Given the description of an element on the screen output the (x, y) to click on. 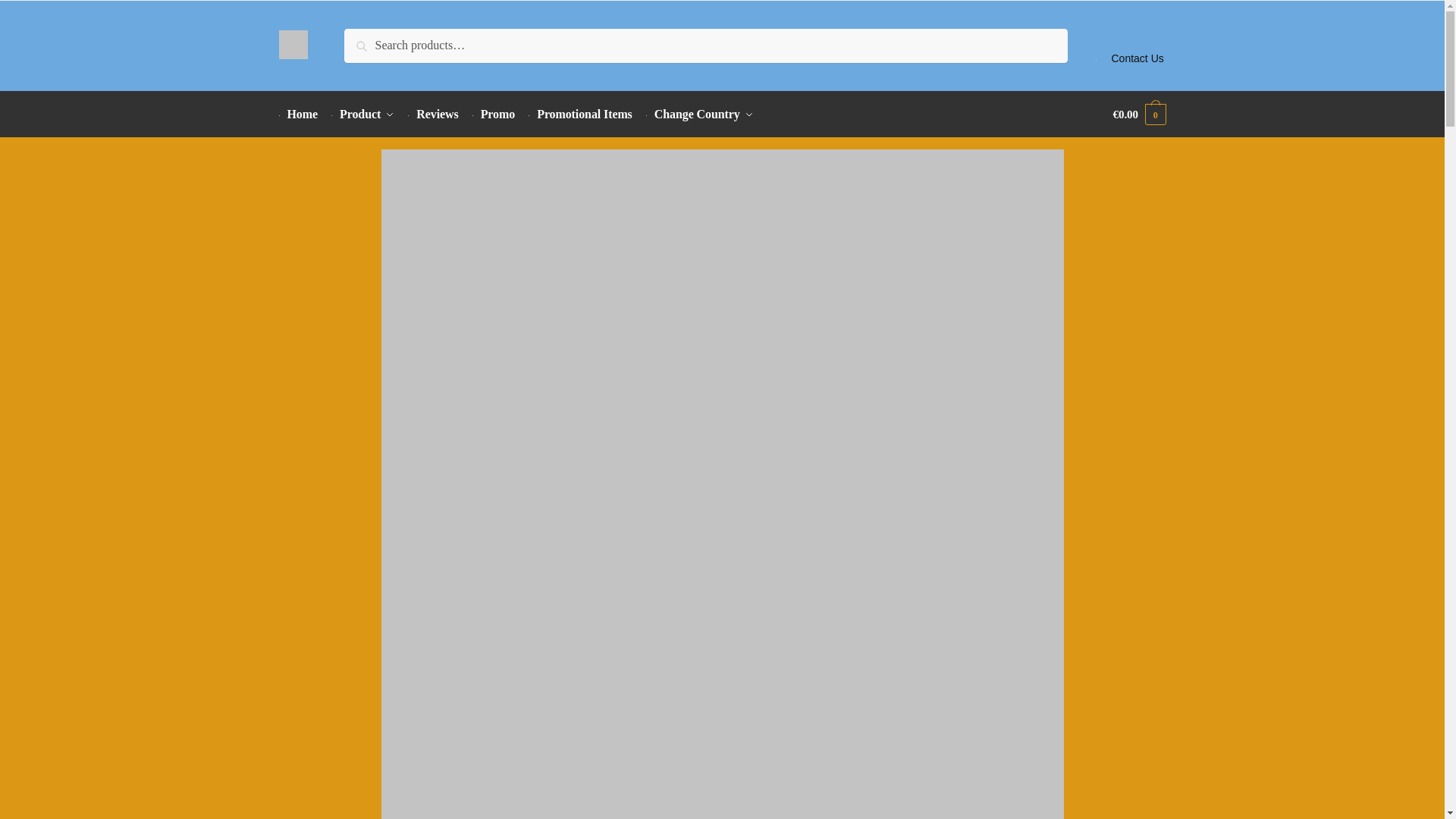
View your shopping cart (1139, 114)
Reviews (433, 114)
Promo (493, 114)
Home (301, 114)
Product (362, 114)
Contact Us (1129, 45)
Promotional Items (580, 114)
Change Country (699, 114)
Search (365, 38)
